Given the description of an element on the screen output the (x, y) to click on. 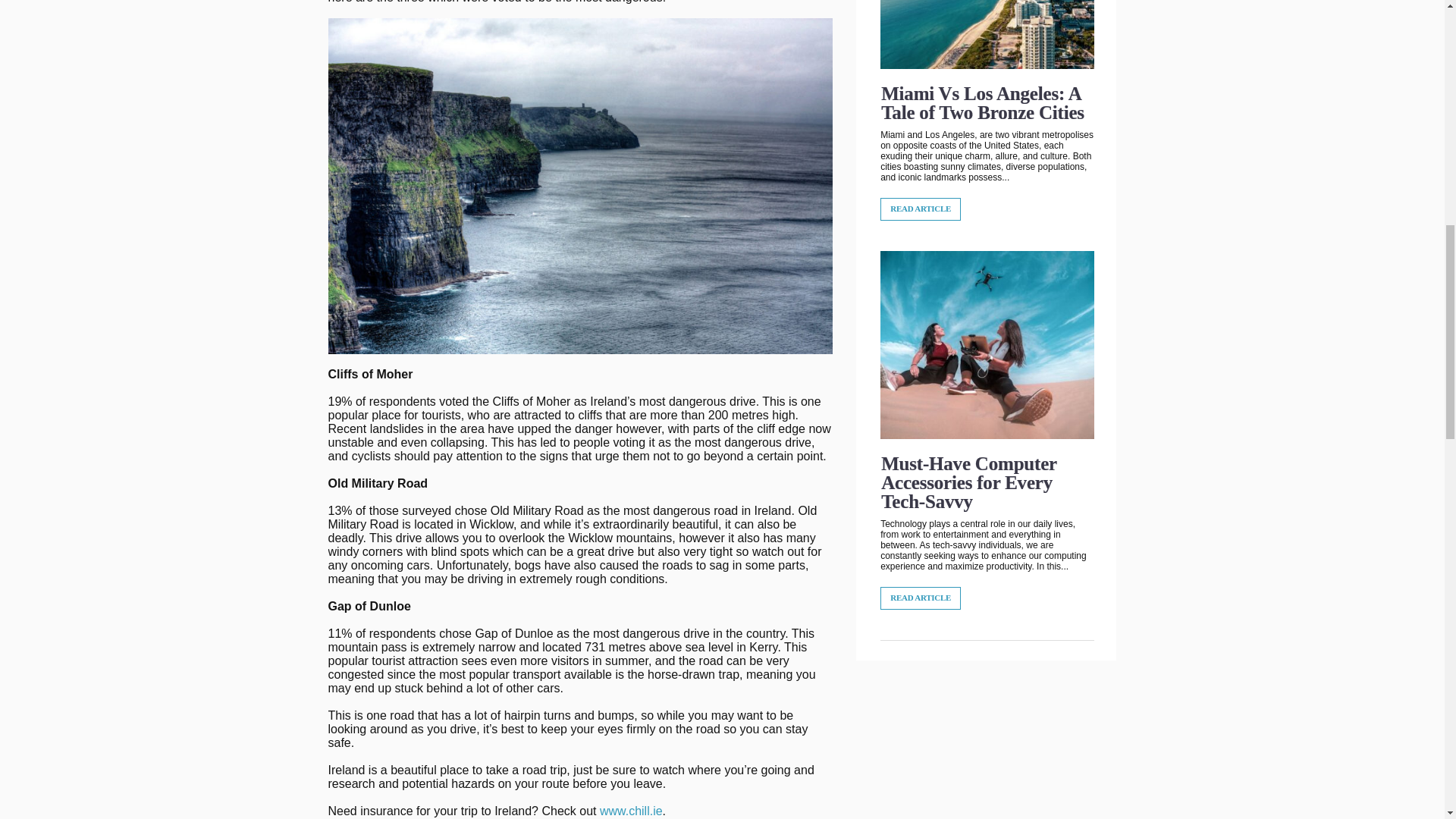
www.chill.ie (630, 811)
READ ARTICLE (920, 209)
Miami Vs Los Angeles: A Tale of Two Bronze Cities (982, 102)
Miami Vs Los Angeles: A Tale of Two Bronze Cities (982, 102)
Must-Have Computer Accessories for Every Tech-Savvy (968, 482)
READ ARTICLE (920, 598)
Must-Have Computer Accessories for Every Tech-Savvy (968, 482)
